Given the description of an element on the screen output the (x, y) to click on. 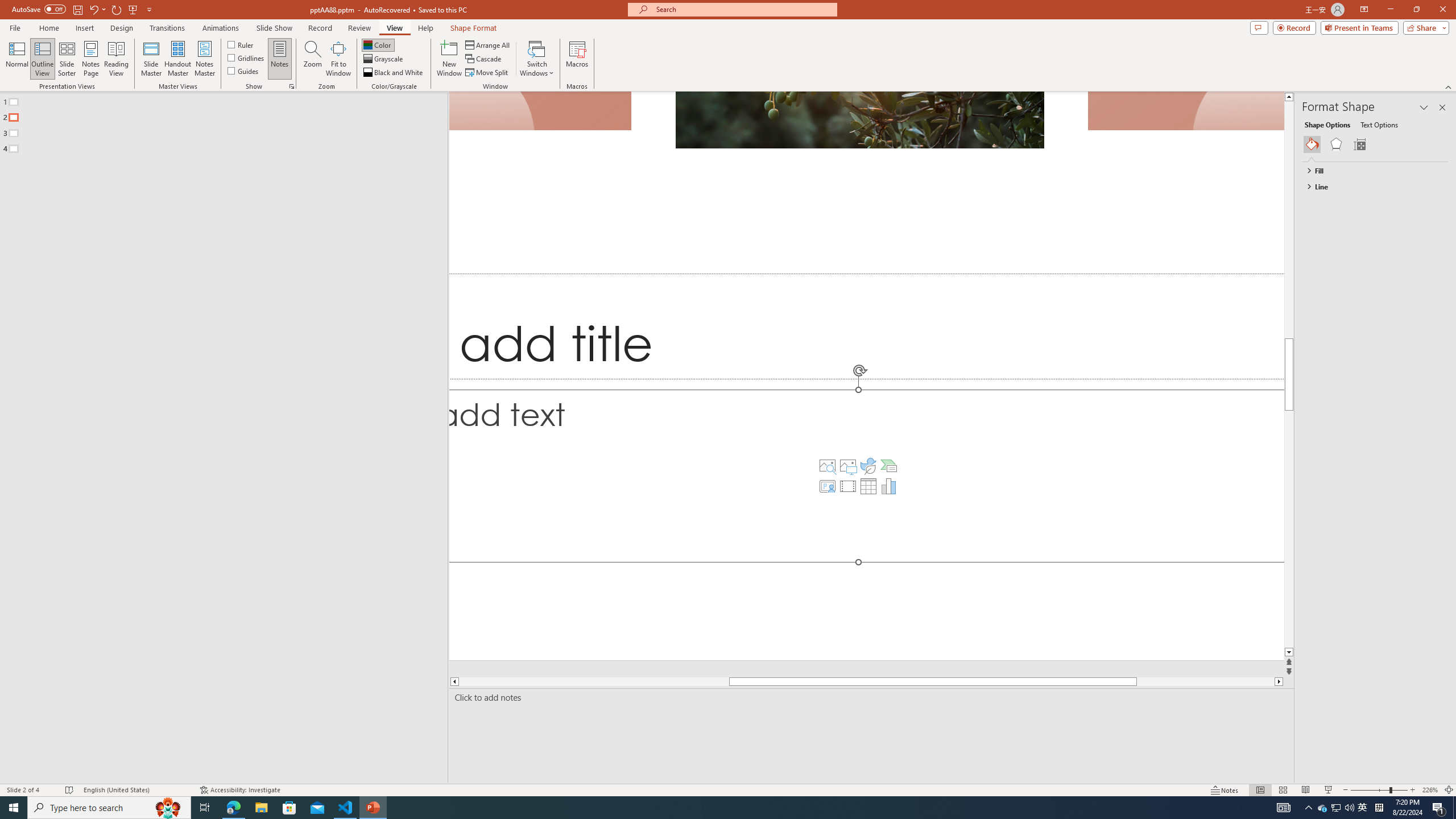
Text Options (1379, 124)
Ruler (241, 44)
Camera 13, No camera detected. (540, 111)
Macros (576, 58)
Black and White (393, 72)
Fill & Line (1311, 144)
New Window (449, 58)
